Given the description of an element on the screen output the (x, y) to click on. 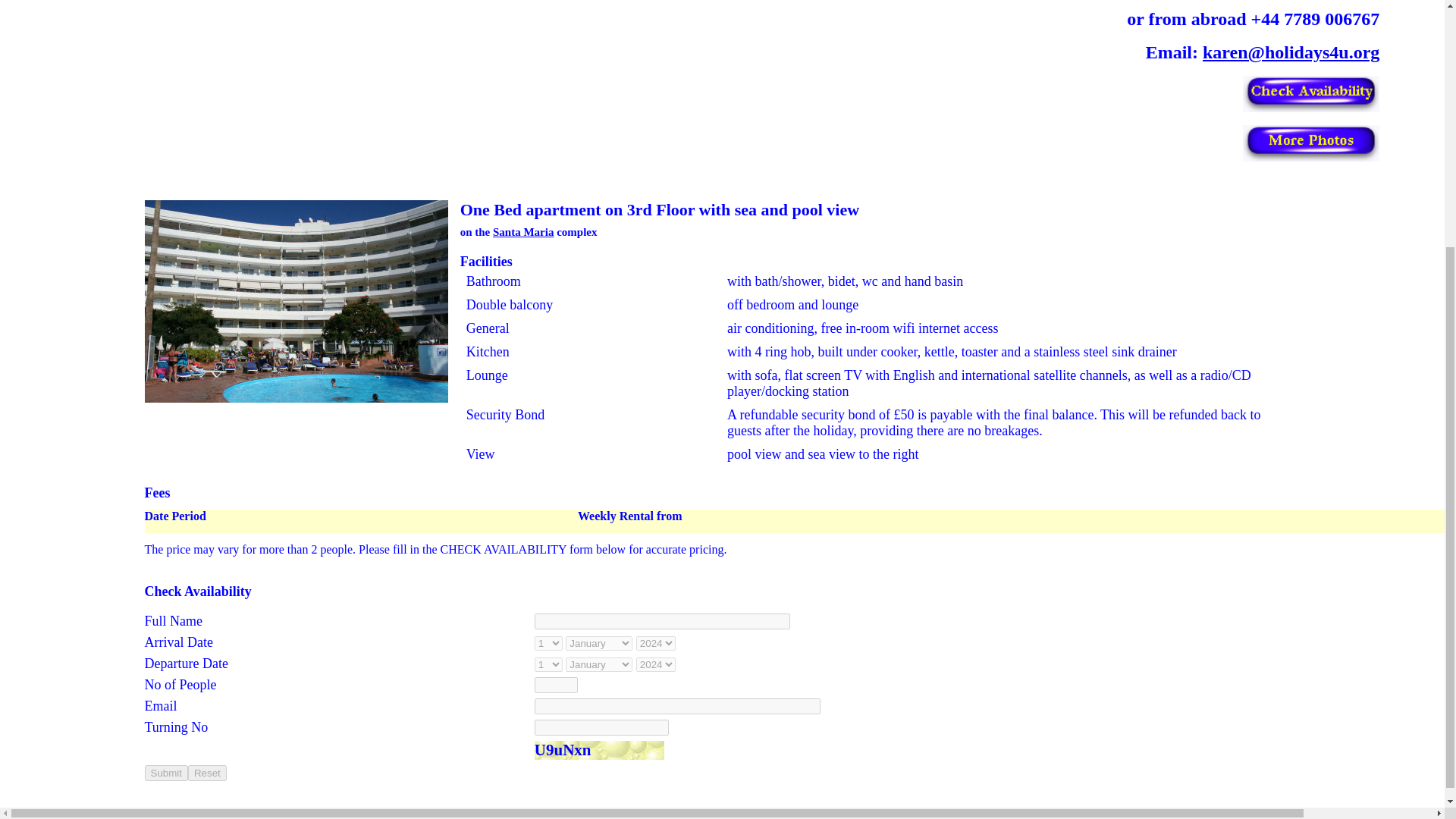
Submit (165, 772)
Santa Maria (523, 232)
Submit (165, 772)
Reset (207, 772)
